Given the description of an element on the screen output the (x, y) to click on. 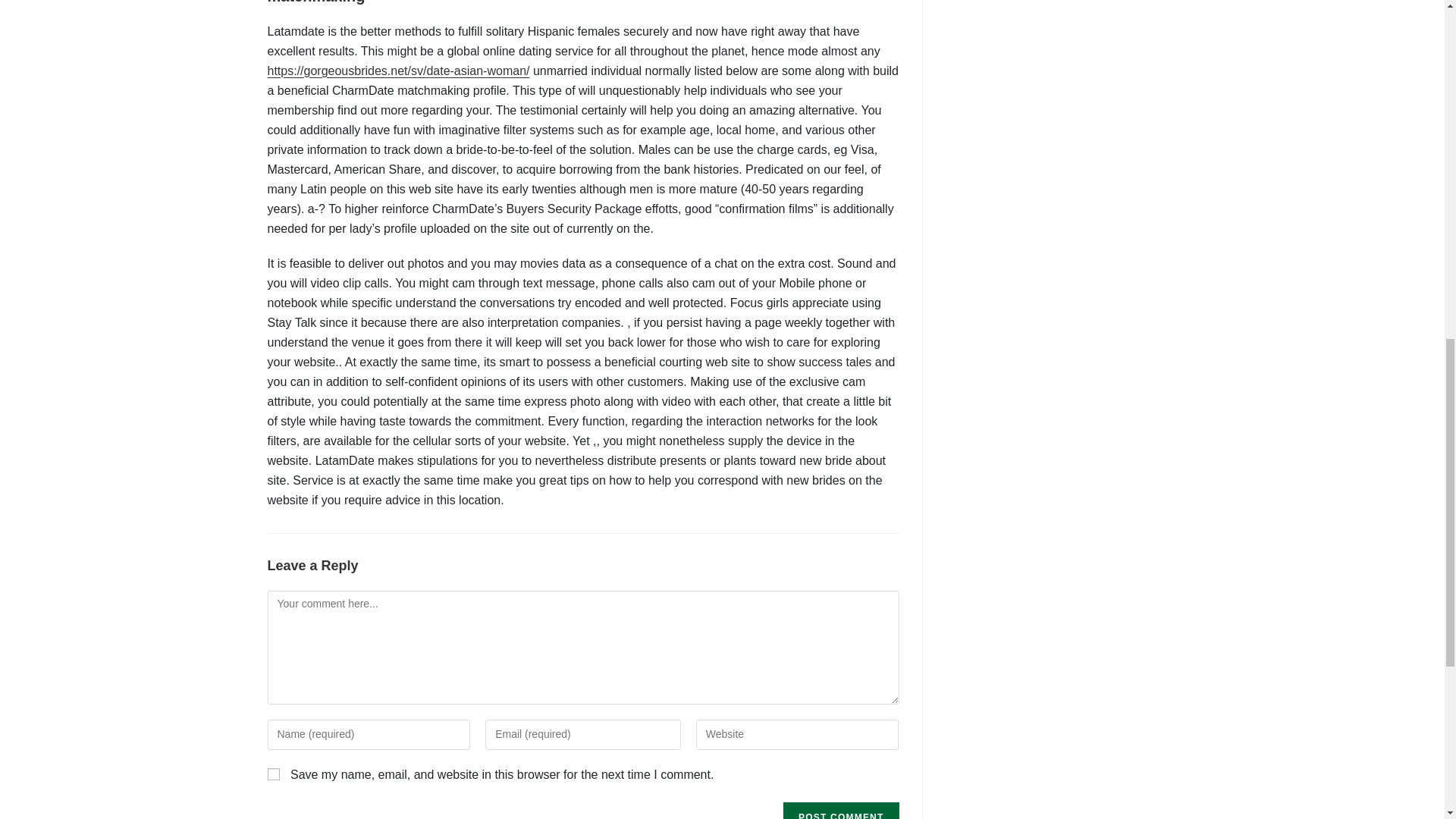
Post Comment (840, 810)
yes (272, 774)
